Given the description of an element on the screen output the (x, y) to click on. 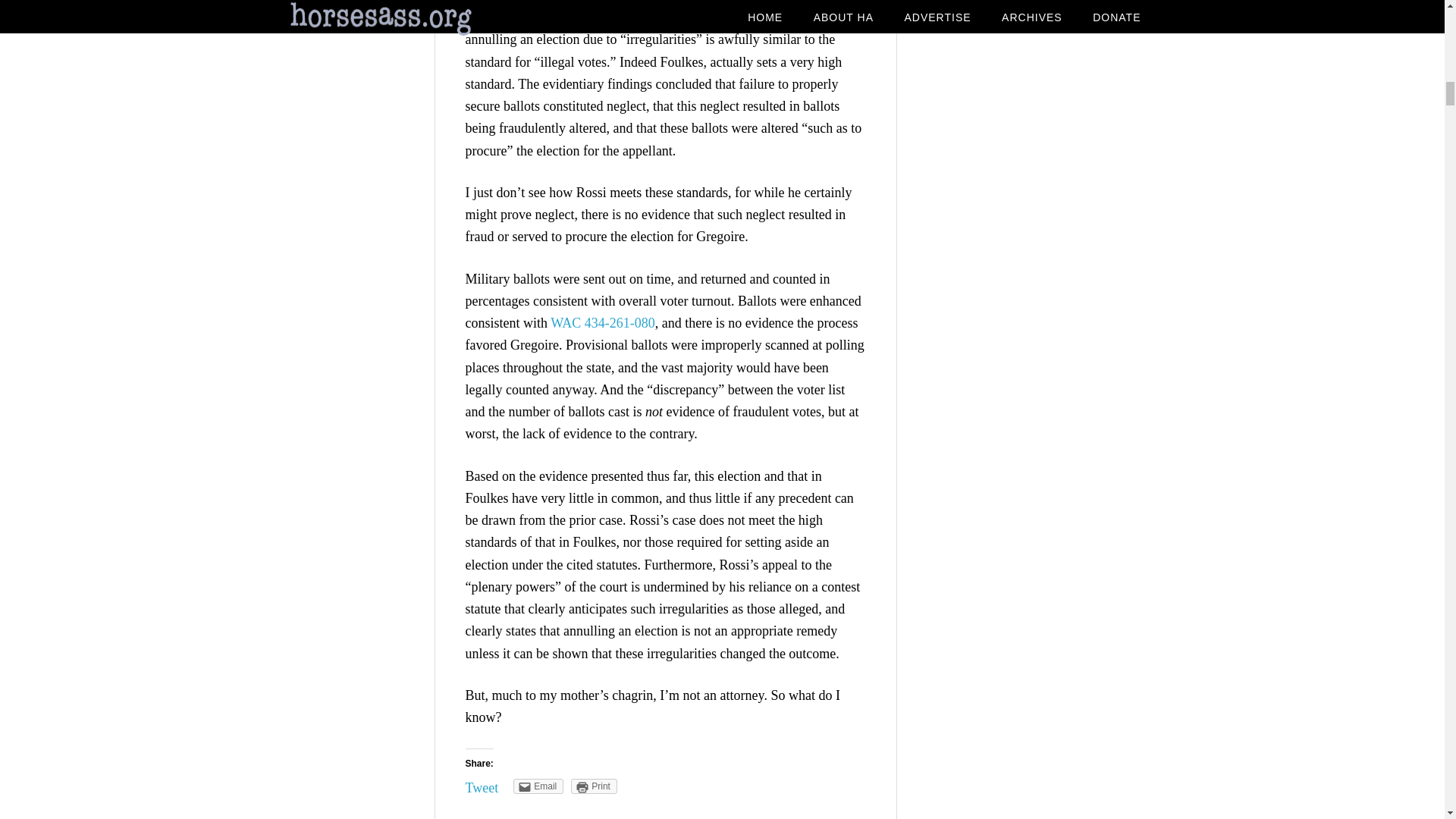
Print (593, 785)
Email (538, 785)
Click to print (593, 785)
Tweet (482, 787)
Click to email a link to a friend (538, 785)
WAC 434-261-080 (602, 322)
